Given the description of an element on the screen output the (x, y) to click on. 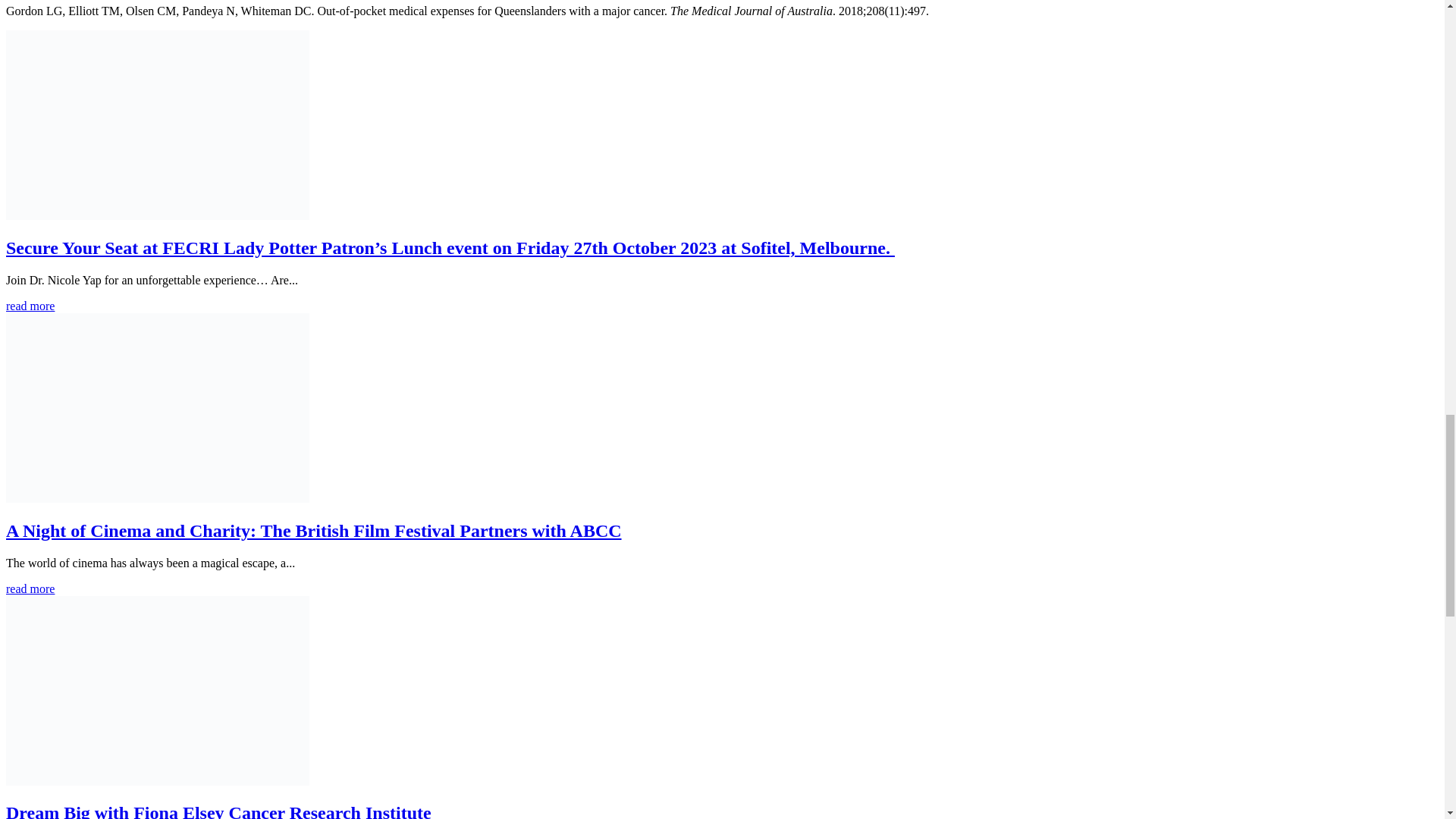
read more (30, 588)
Dream Big with Fiona Elsey Cancer Research Institute (217, 811)
read more (30, 305)
